Given the description of an element on the screen output the (x, y) to click on. 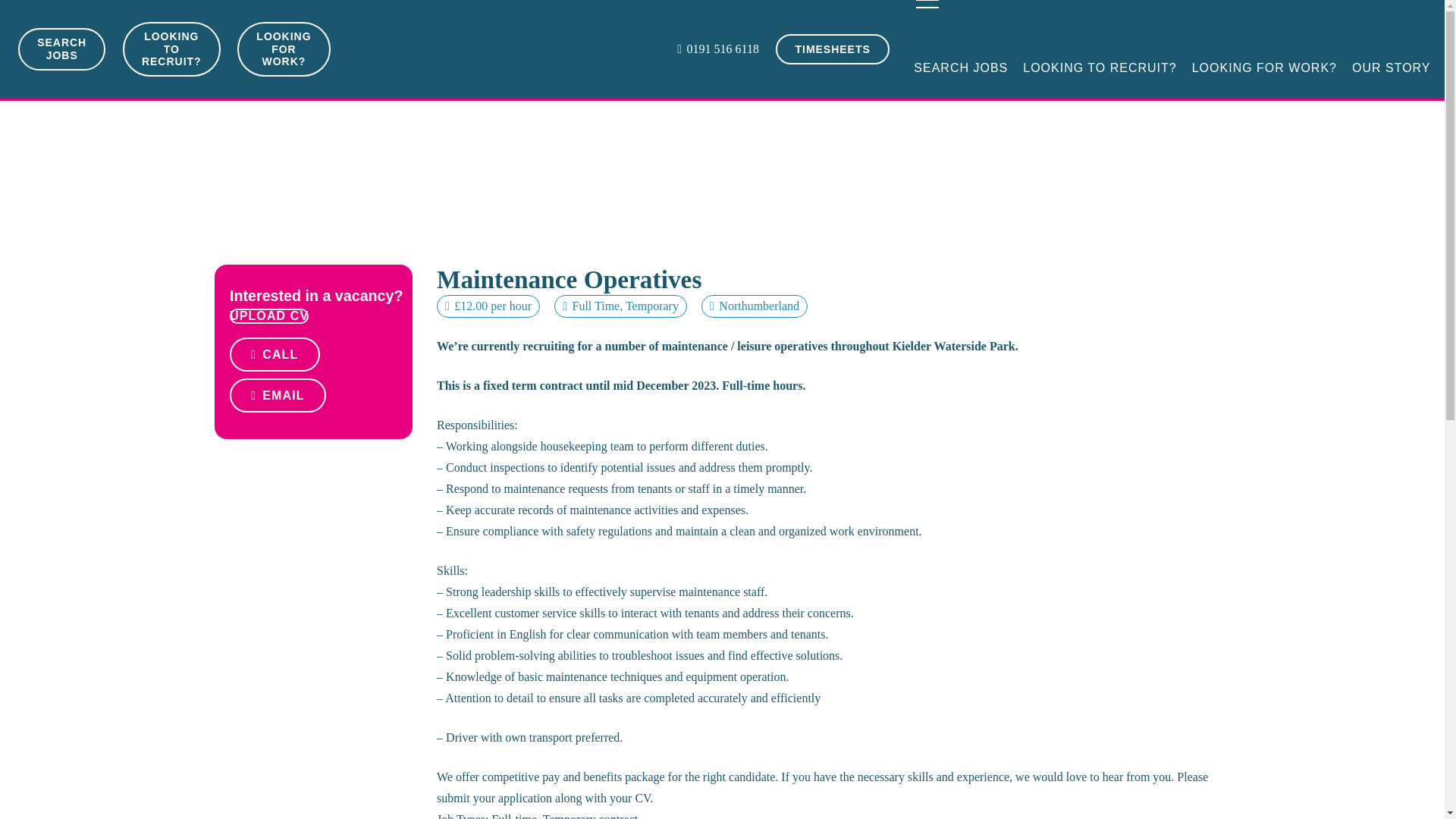
SEARCH JOBS (60, 48)
LOOKING FOR WORK? (283, 49)
LOOKING TO RECRUIT? (171, 49)
Temporary (652, 305)
LOOKING TO RECRUIT? (1098, 67)
TIMESHEETS (832, 48)
EMAIL (277, 395)
LOOKING FOR WORK? (1264, 67)
OUR STORY (1390, 67)
0191 516 6118 (717, 48)
CALL (274, 354)
UPLOAD CV (267, 315)
Full Time (596, 305)
SEARCH JOBS (959, 67)
Northumberland (759, 305)
